Given the description of an element on the screen output the (x, y) to click on. 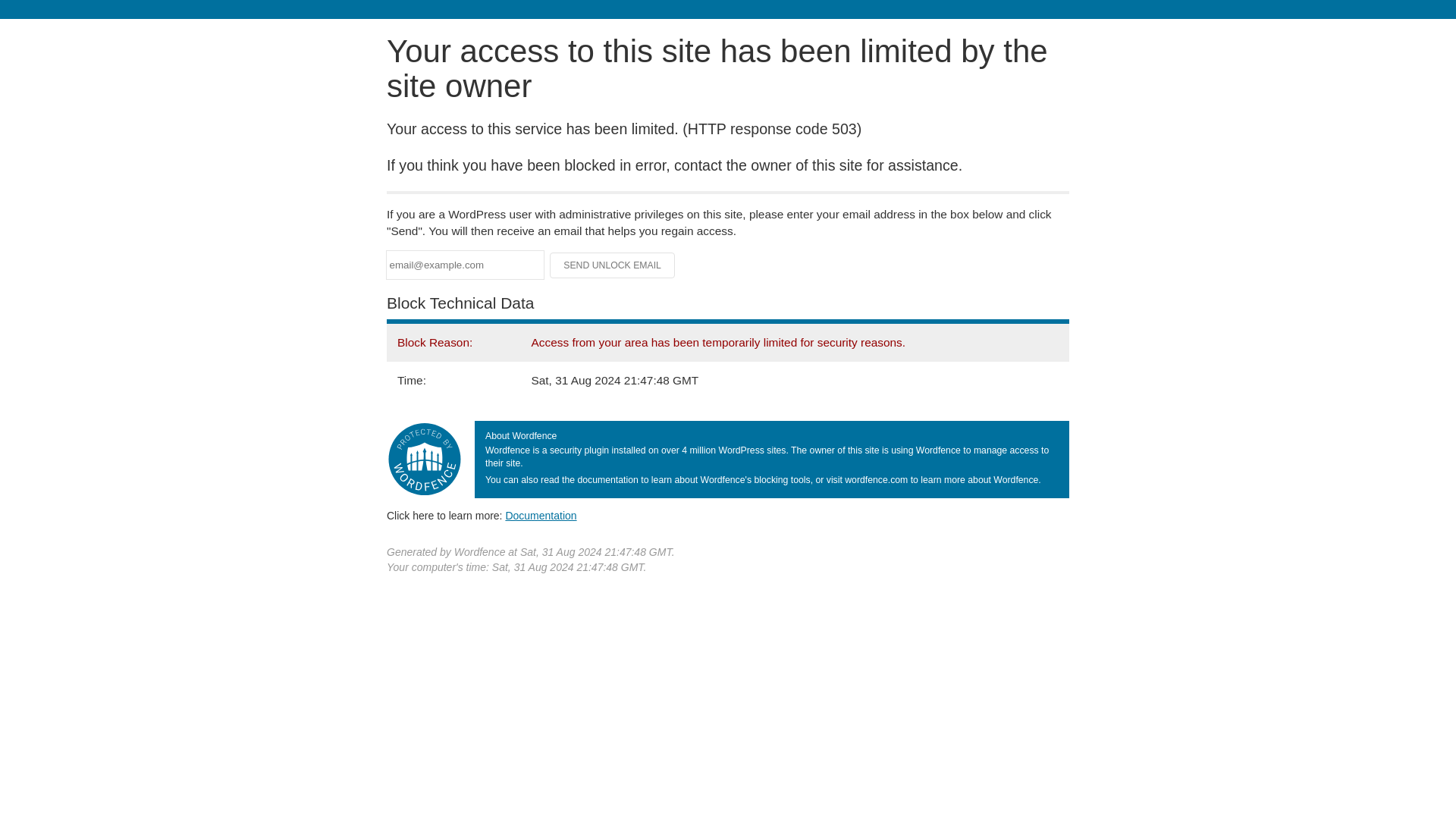
Send Unlock Email (612, 265)
Send Unlock Email (612, 265)
Documentation (540, 515)
